Given the description of an element on the screen output the (x, y) to click on. 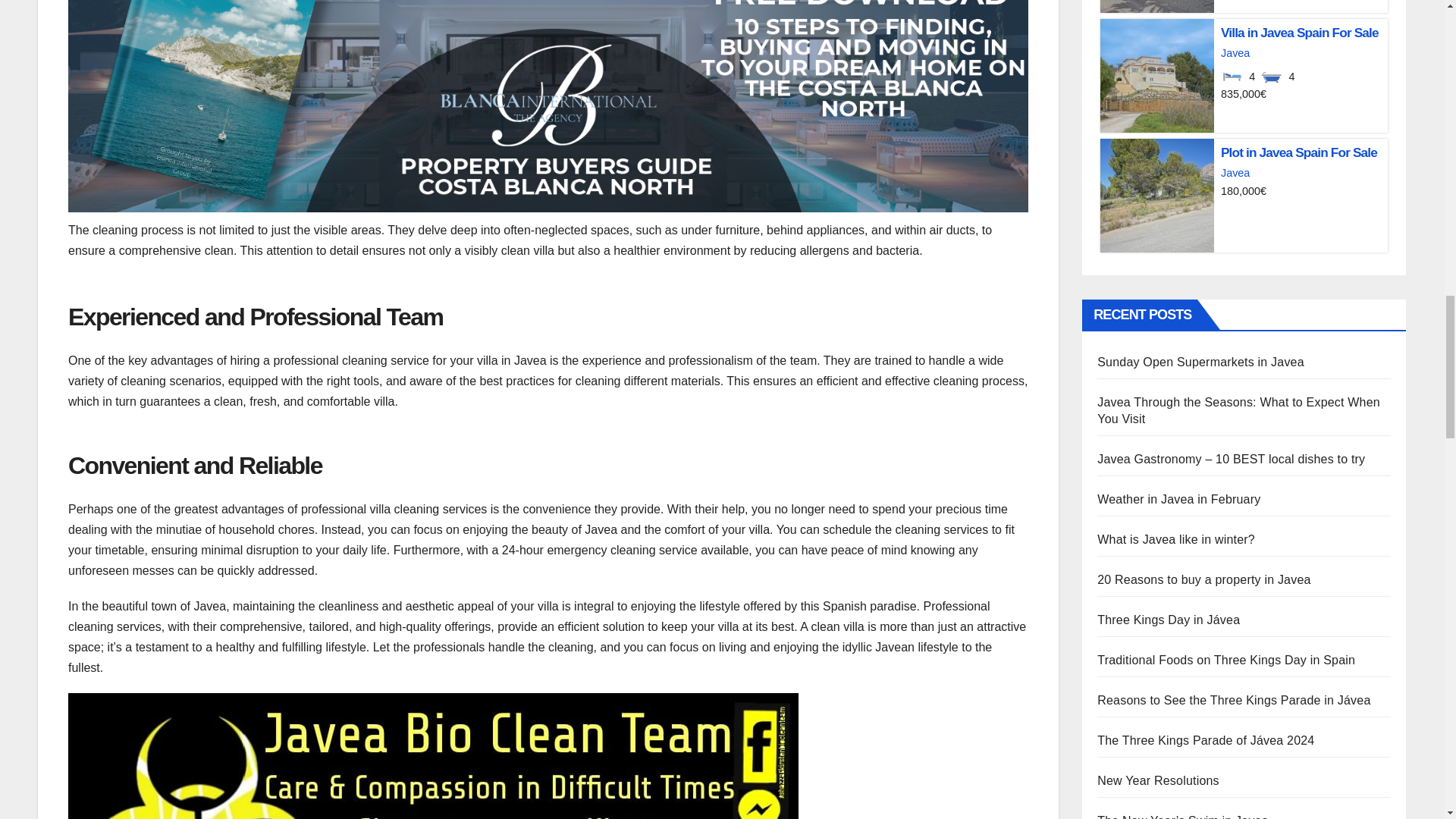
Bedrooms (1232, 76)
Bathrooms (1271, 76)
